Given the description of an element on the screen output the (x, y) to click on. 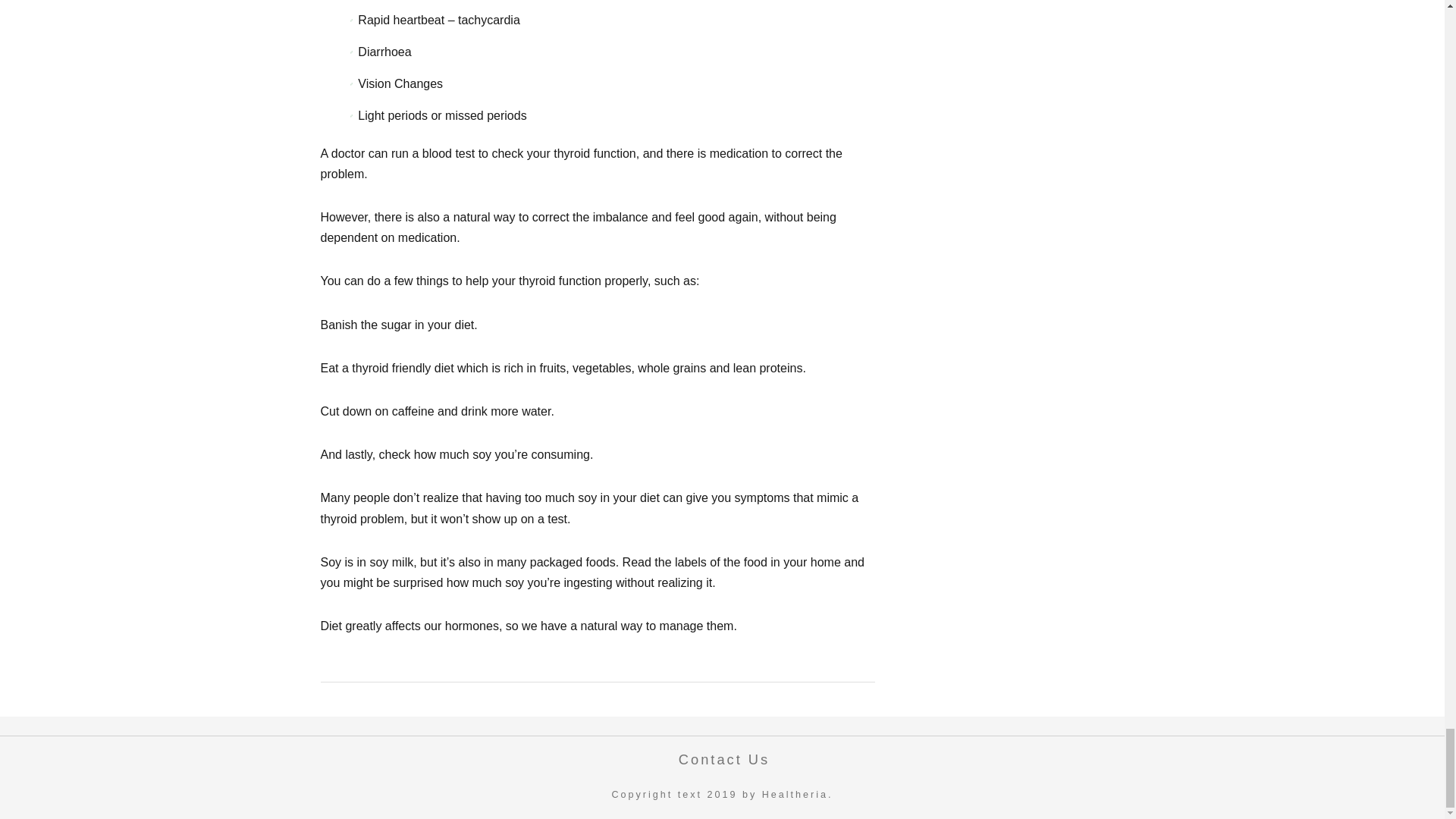
Contact Us (720, 759)
